Given the description of an element on the screen output the (x, y) to click on. 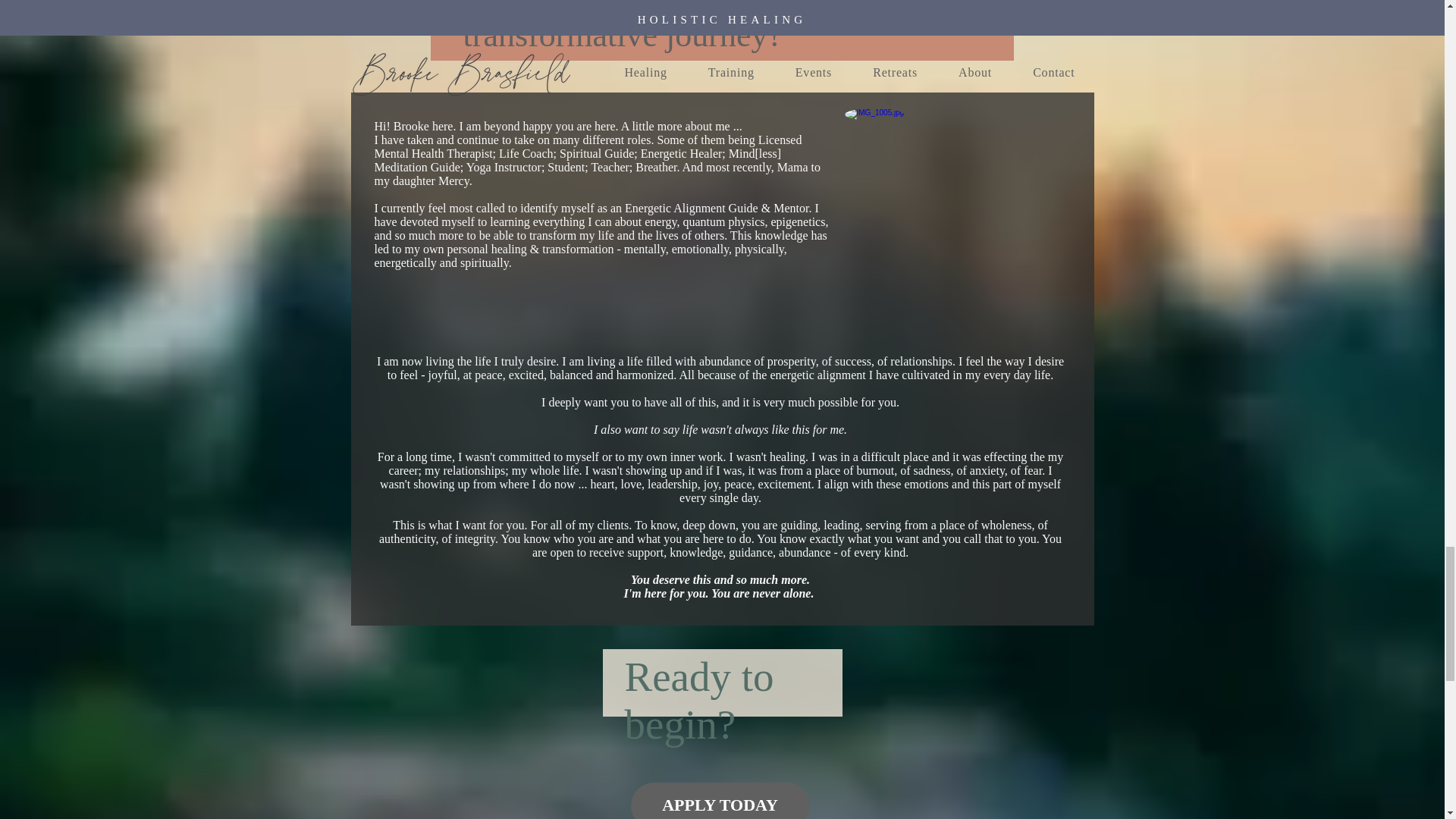
APPLY TODAY (719, 800)
